Given the description of an element on the screen output the (x, y) to click on. 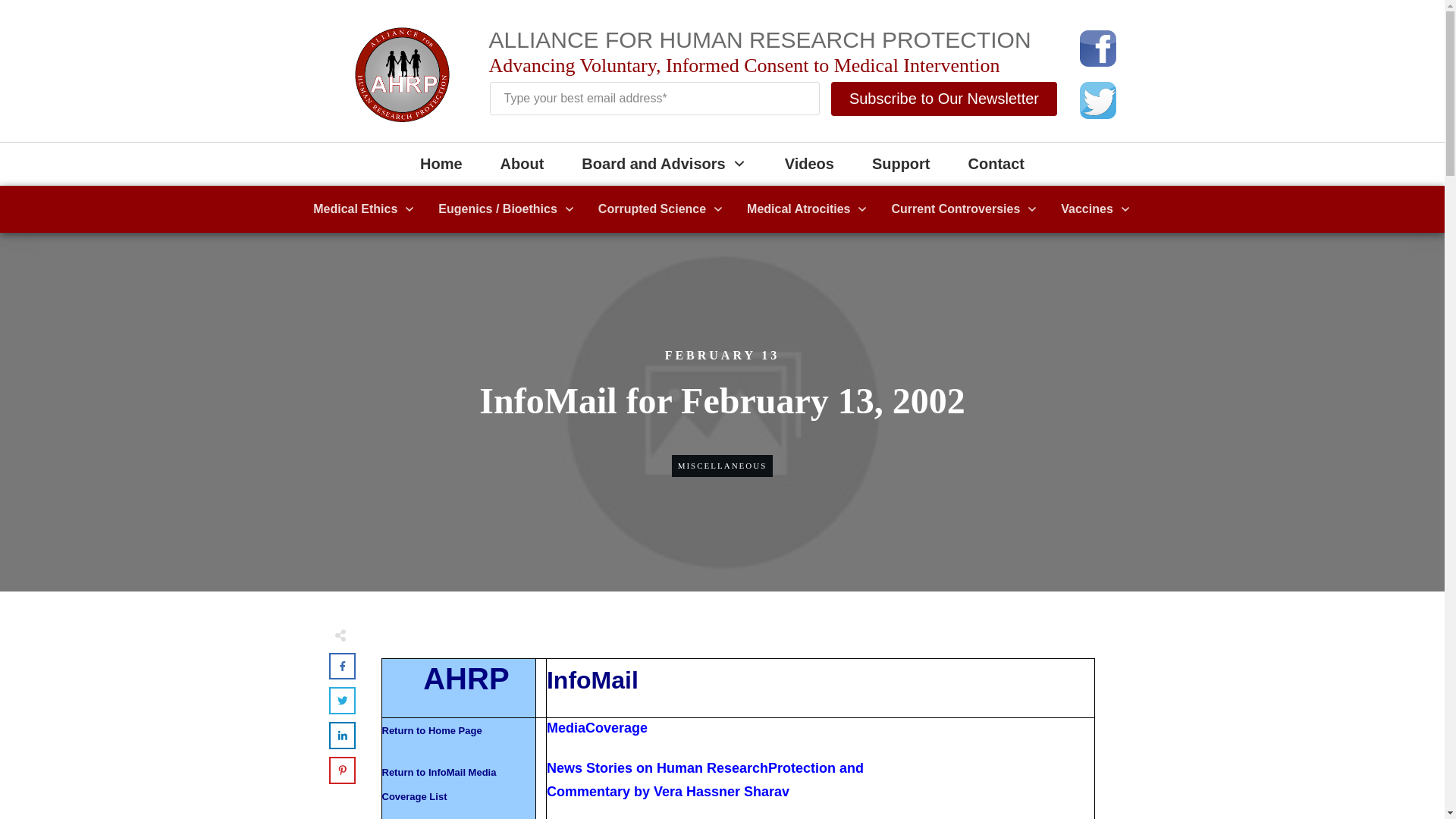
Corrupted Science (660, 209)
Medical Ethics (363, 209)
Board and Advisors (662, 163)
Contact (996, 163)
Home (441, 163)
About (522, 163)
Subscribe to Our Newsletter (944, 98)
Videos (809, 163)
Support (901, 163)
facebook-logo (1098, 48)
